Given the description of an element on the screen output the (x, y) to click on. 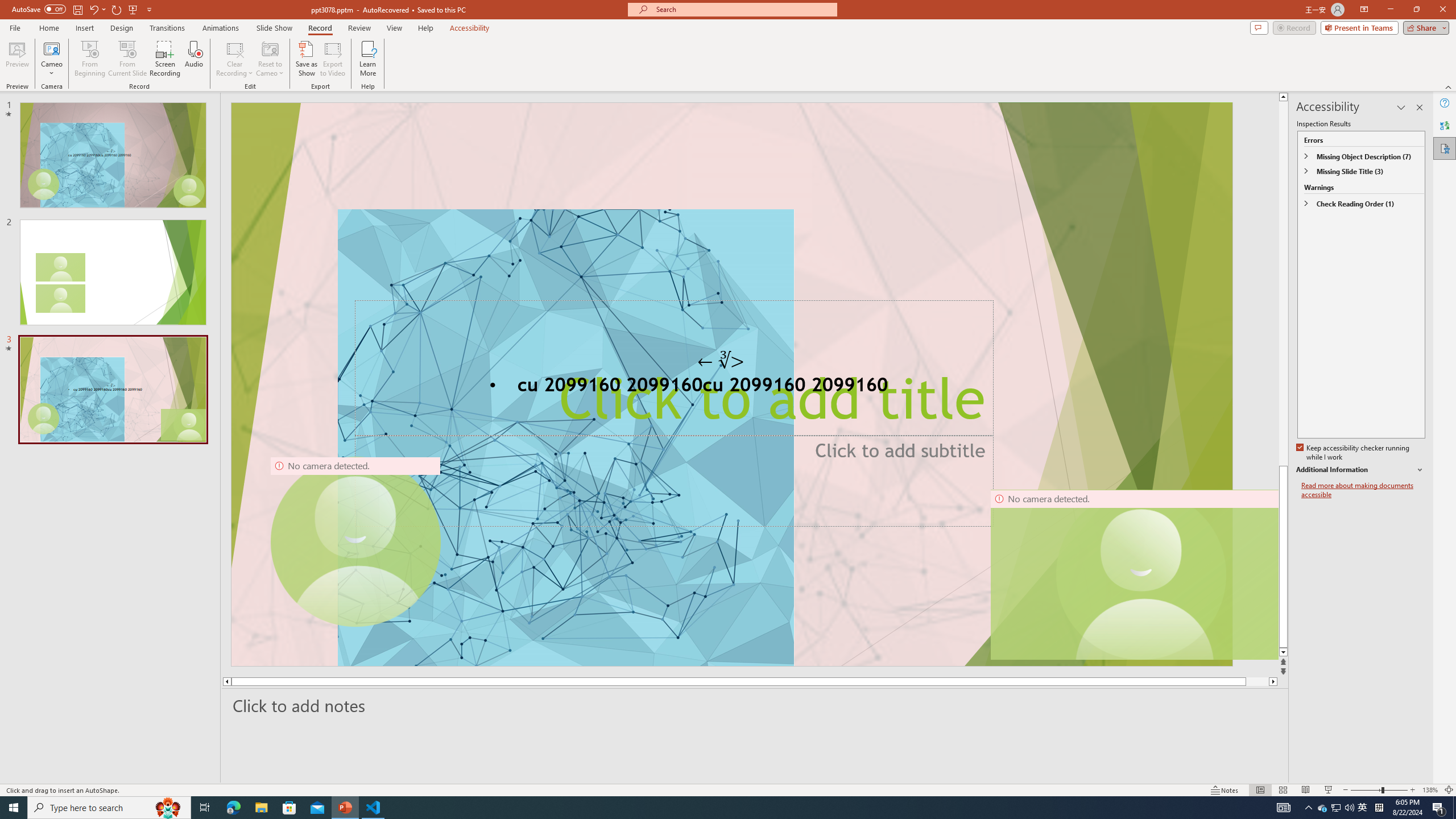
Microsoft search (742, 9)
Animations (220, 28)
Collapse the Ribbon (1448, 86)
Share (1423, 27)
